Given the description of an element on the screen output the (x, y) to click on. 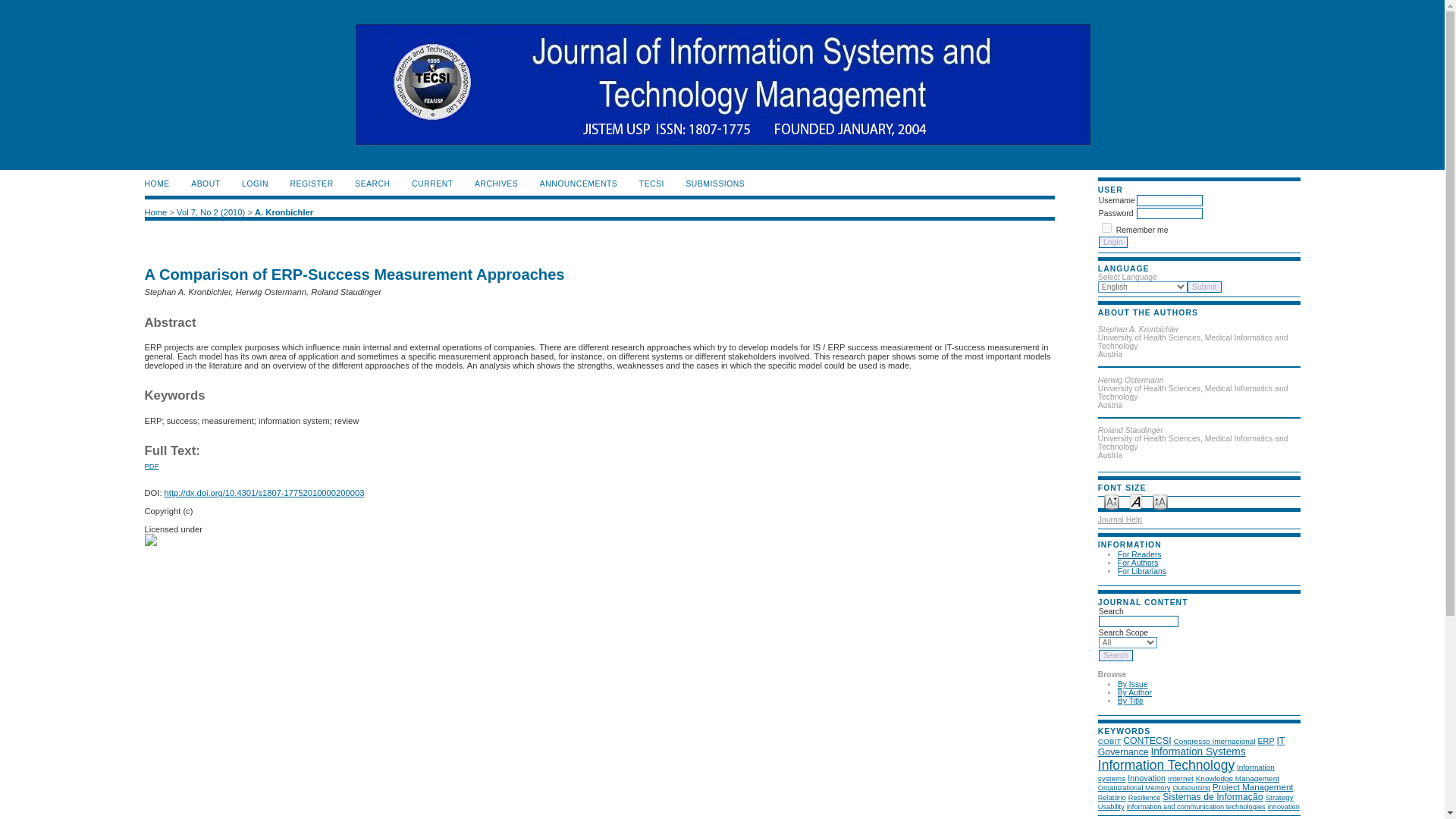
Organizational Memory (1133, 786)
Congresso Internacional (1214, 741)
Search (1115, 655)
Innovation (1146, 777)
Strategy (1278, 797)
Internet (1180, 777)
Submit (1204, 286)
Information systems (1186, 772)
ERP (1265, 741)
COBIT (1109, 741)
Search (1115, 655)
innovation (1284, 806)
Information Technology (1165, 766)
information and communication technologies (1195, 806)
Journal Help (1119, 519)
